Given the description of an element on the screen output the (x, y) to click on. 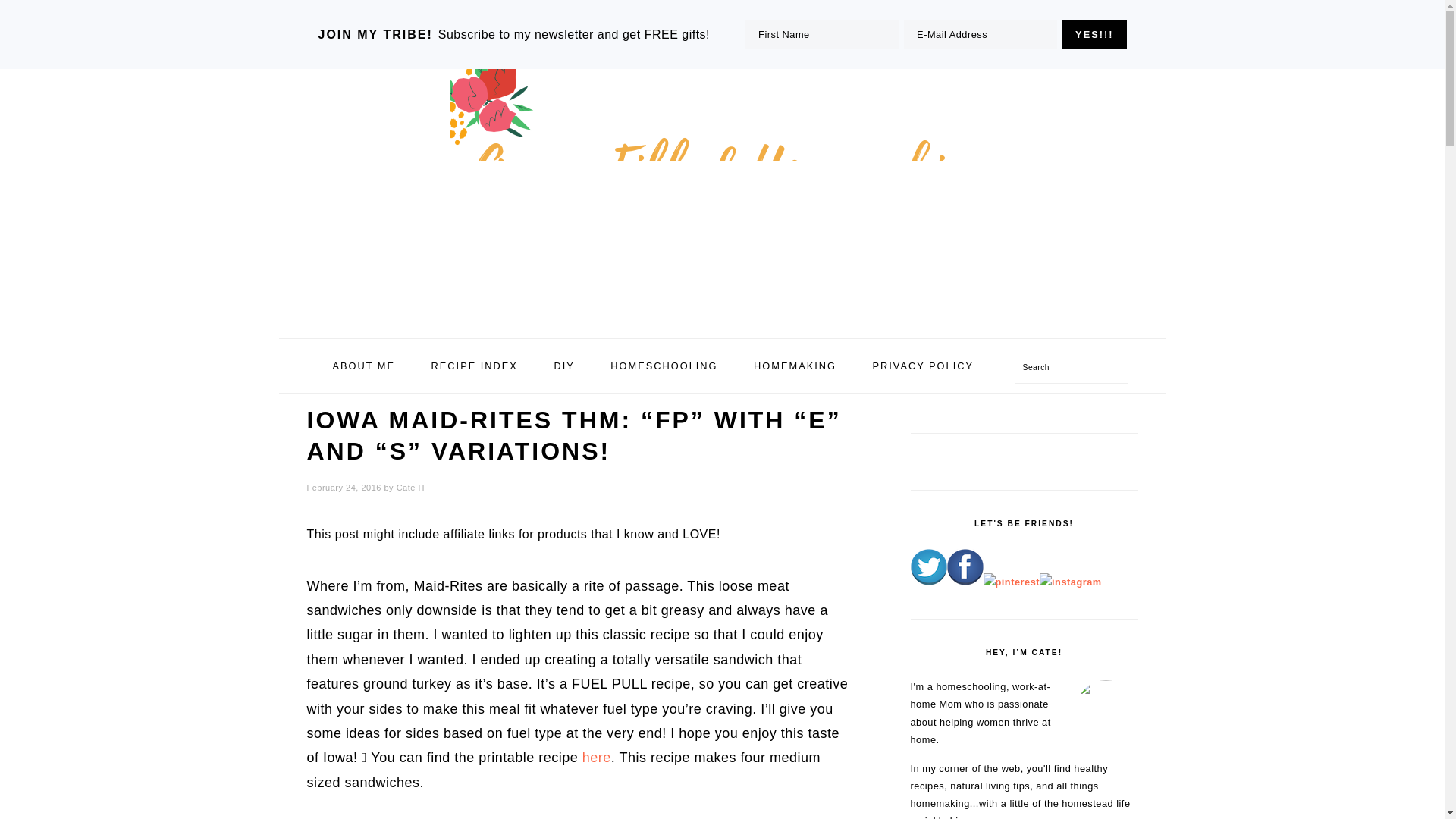
RECIPE INDEX (474, 365)
ABOUT ME (362, 365)
HOMESCHOOLING (663, 365)
Cate H (410, 487)
Yes!!! (1093, 34)
PRIVACY POLICY (923, 365)
here (596, 757)
DIY (563, 365)
Yes!!! (1093, 34)
HOMEMAKING (794, 365)
